Given the description of an element on the screen output the (x, y) to click on. 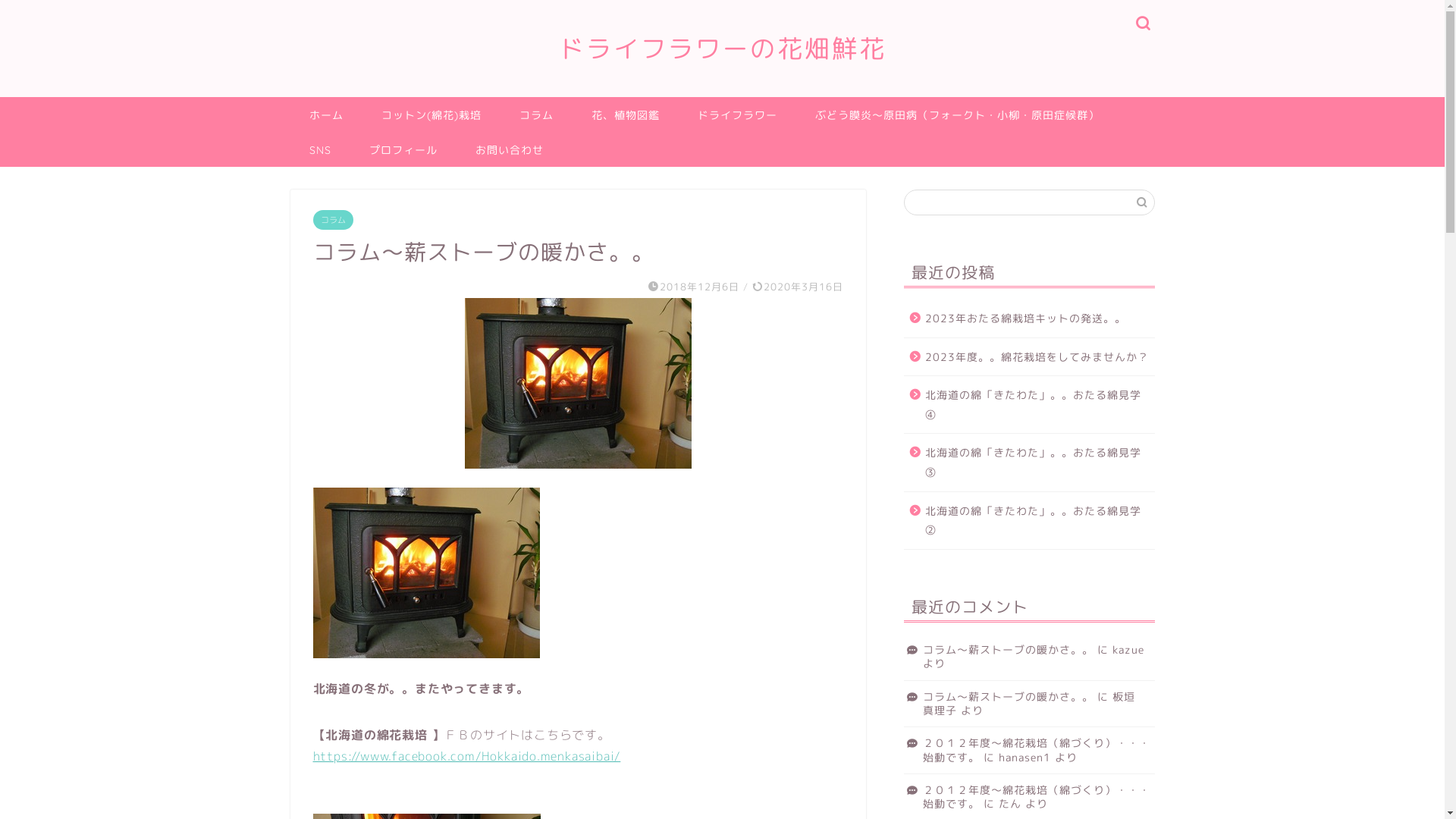
SNS Element type: text (319, 148)
P1090547 Element type: hover (425, 668)
hanasen1 Element type: text (1024, 756)
https://www.facebook.com/Hokkaido.menkasaibai/ Element type: text (466, 755)
